Given the description of an element on the screen output the (x, y) to click on. 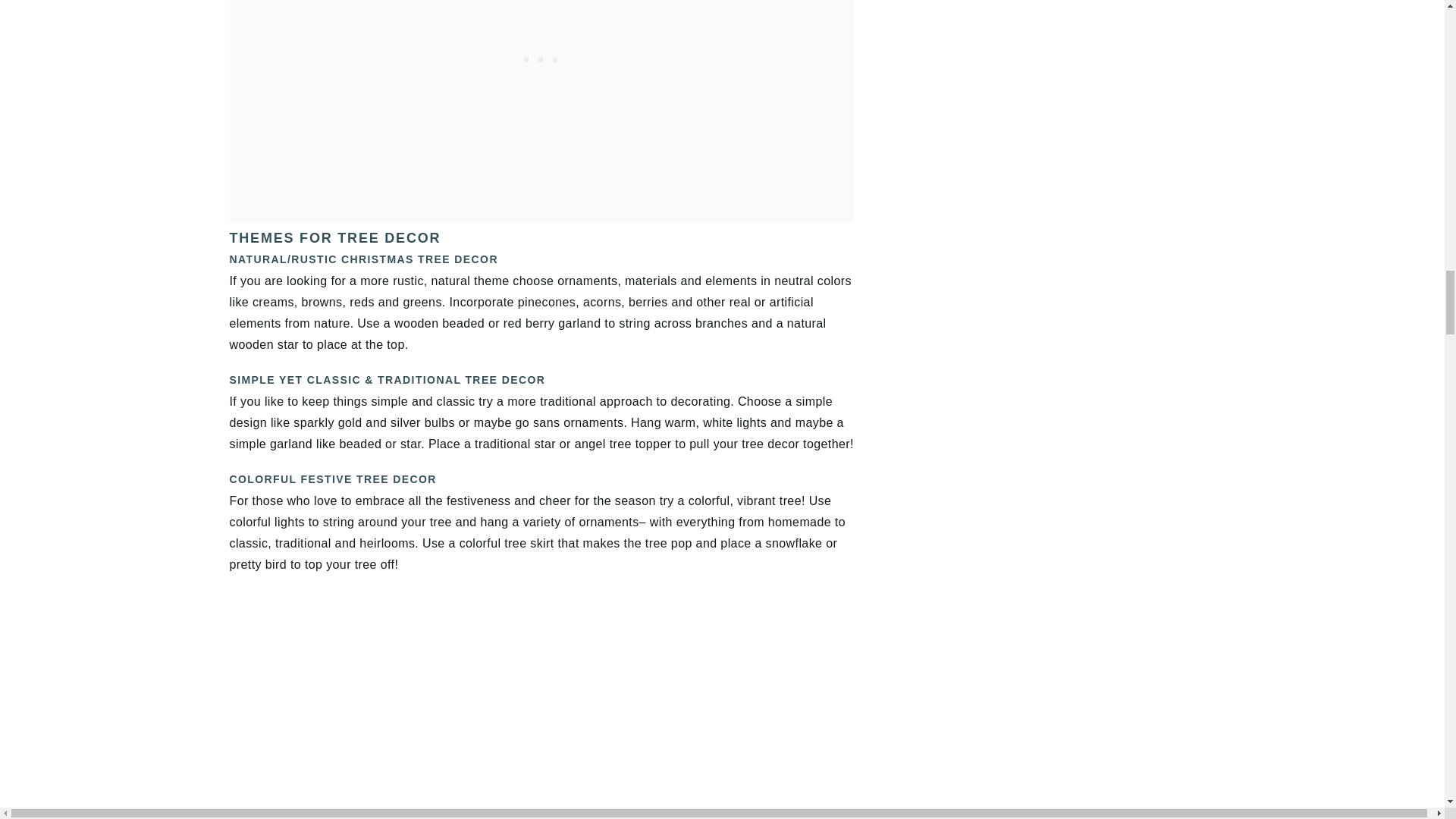
Christmas Tree ornament ideas (541, 706)
Christmas Tree design ideas (751, 706)
Christmas Tree ornaments (330, 706)
